Given the description of an element on the screen output the (x, y) to click on. 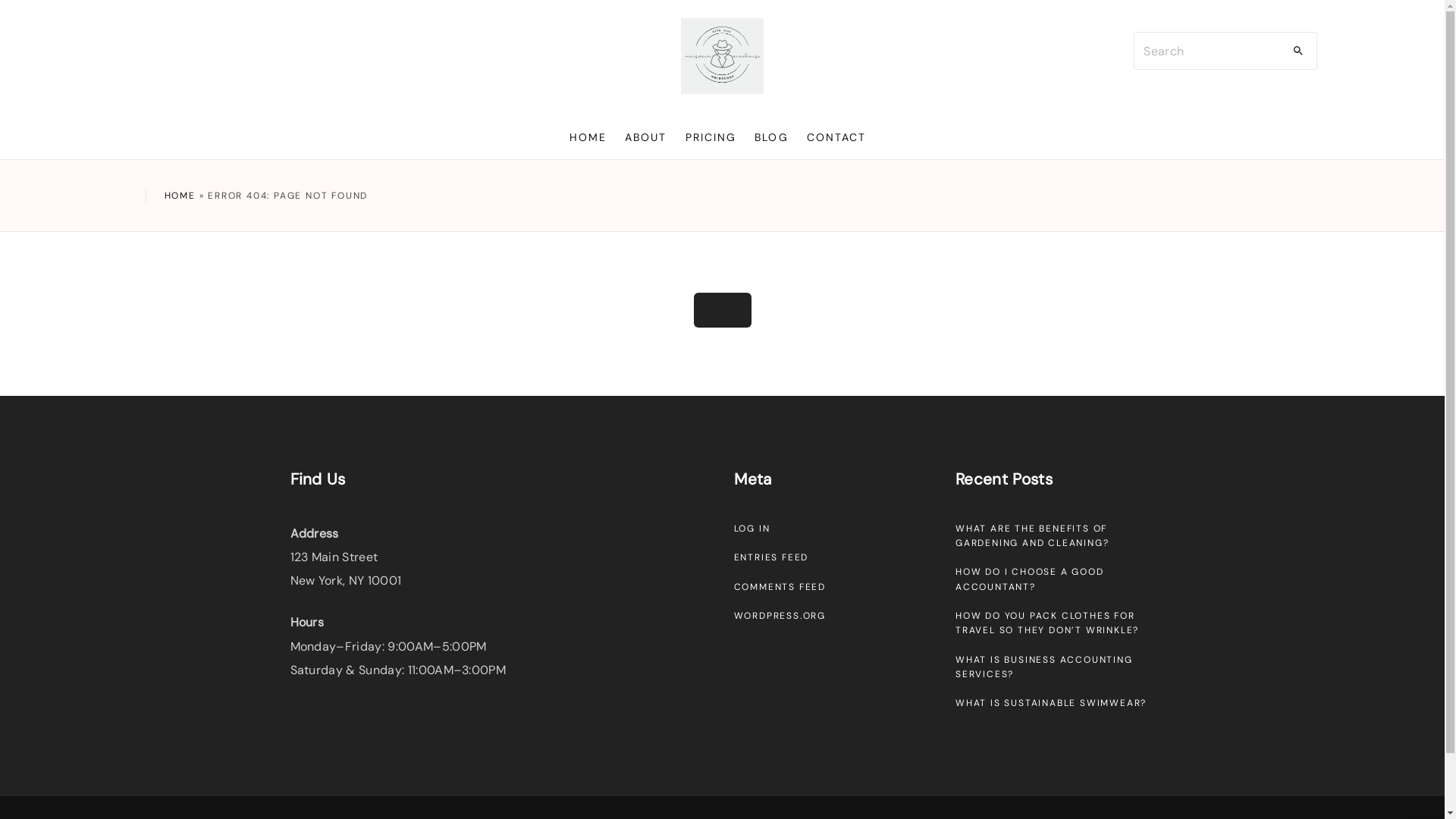
PRICING Element type: text (711, 136)
CONTACT Element type: text (836, 136)
Search Element type: text (1298, 50)
BLOG Element type: text (770, 136)
WORDPRESS.ORG Element type: text (779, 615)
WHAT ARE THE BENEFITS OF GARDENING AND CLEANING? Element type: text (1031, 535)
HOW DO I CHOOSE A GOOD ACCOUNTANT? Element type: text (1029, 578)
WHAT IS SUSTAINABLE SWIMWEAR? Element type: text (1050, 702)
ABOUT Element type: text (645, 136)
ENTRIES FEED Element type: text (771, 557)
HOME Element type: text (178, 195)
HOME Element type: text (587, 136)
LOG IN Element type: text (752, 528)
WHAT IS BUSINESS ACCOUNTING SERVICES? Element type: text (1043, 666)
COMMENTS FEED Element type: text (779, 586)
